Given the description of an element on the screen output the (x, y) to click on. 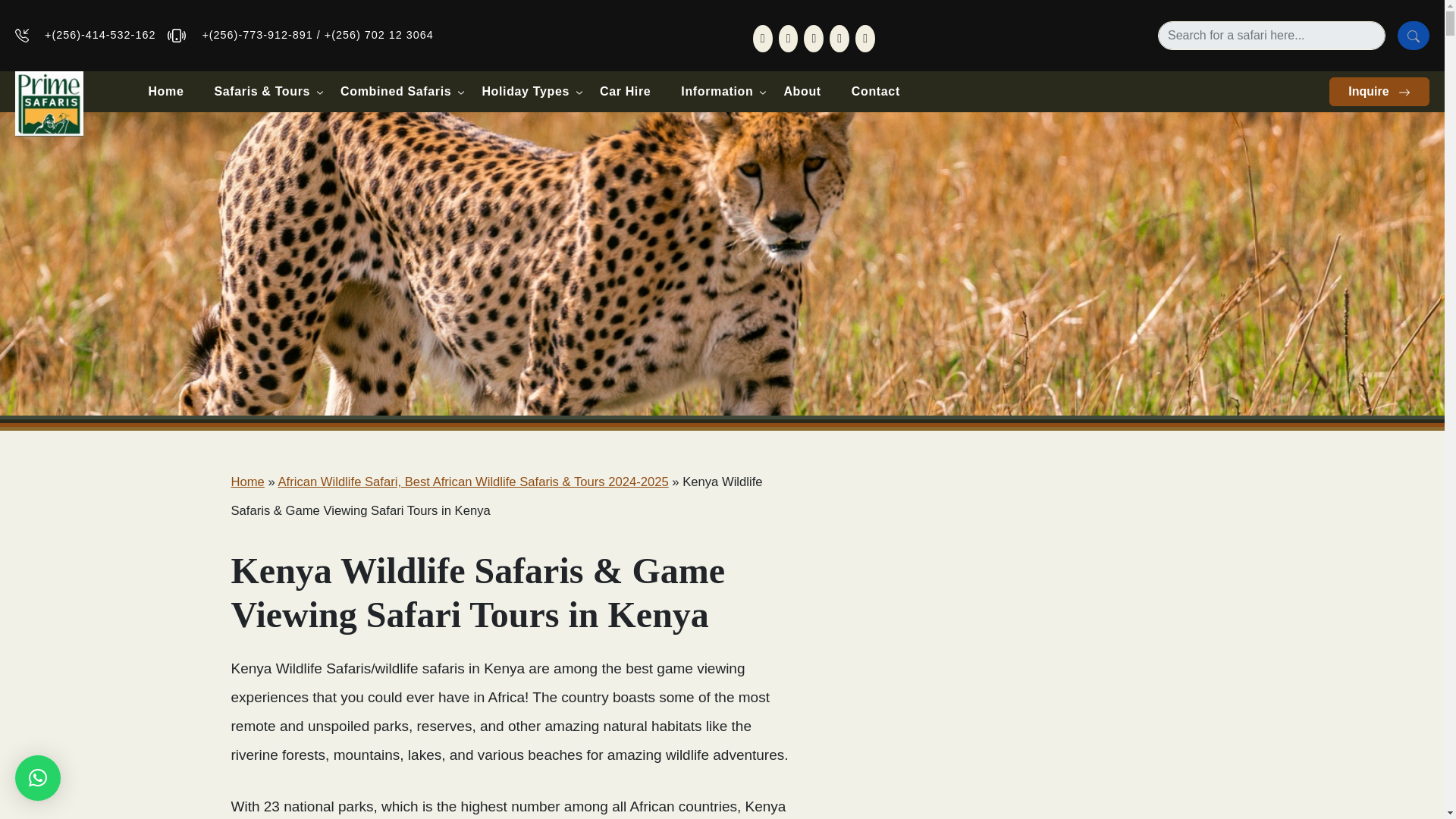
Holiday Types (525, 91)
Home (165, 91)
Combined Safaris (394, 91)
